Given the description of an element on the screen output the (x, y) to click on. 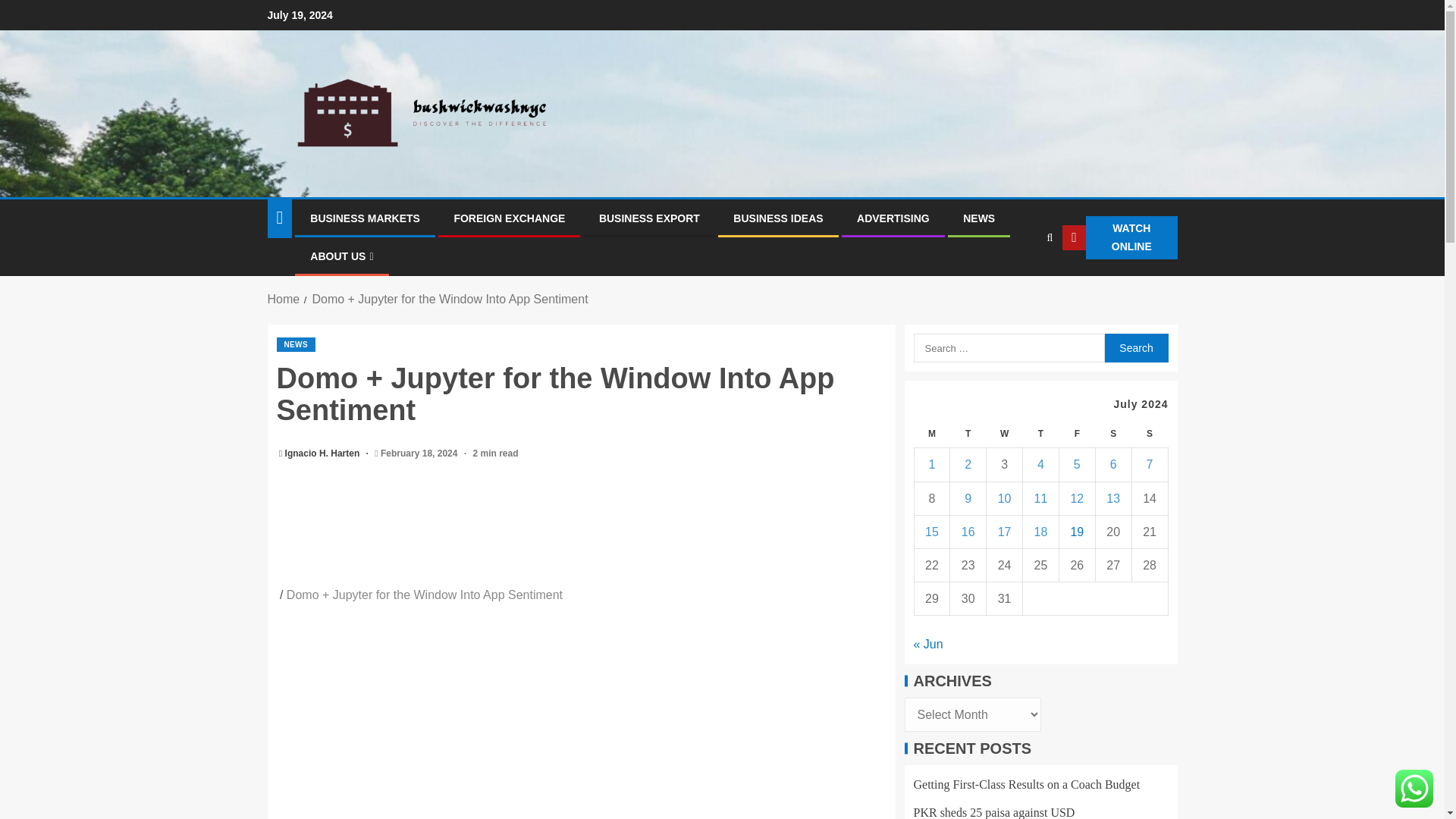
Monday (932, 433)
BUSINESS EXPORT (649, 218)
Sunday (1149, 433)
NEWS (295, 344)
Wednesday (1005, 433)
Search (1019, 284)
Ignacio H. Harten (323, 452)
ABOUT US (341, 256)
Friday (1076, 433)
Saturday (1112, 433)
Search (1135, 347)
Search (1135, 347)
NEWS (978, 218)
Thursday (1041, 433)
BUSINESS IDEAS (777, 218)
